Given the description of an element on the screen output the (x, y) to click on. 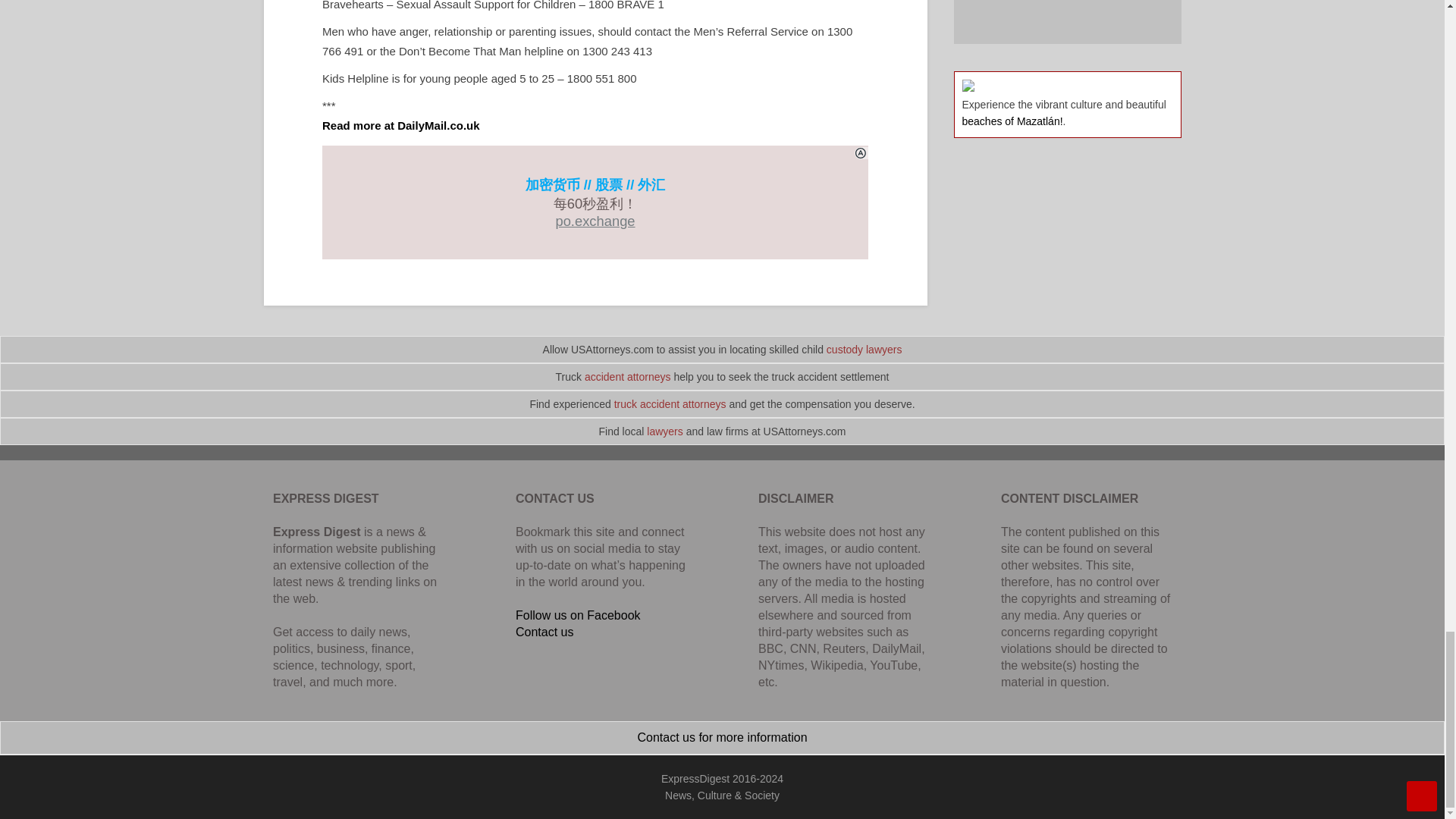
Read more at DailyMail.co.uk (400, 124)
custody lawyers (864, 349)
lawyers (664, 431)
accident attorneys (628, 377)
truck accident attorneys (670, 404)
